Given the description of an element on the screen output the (x, y) to click on. 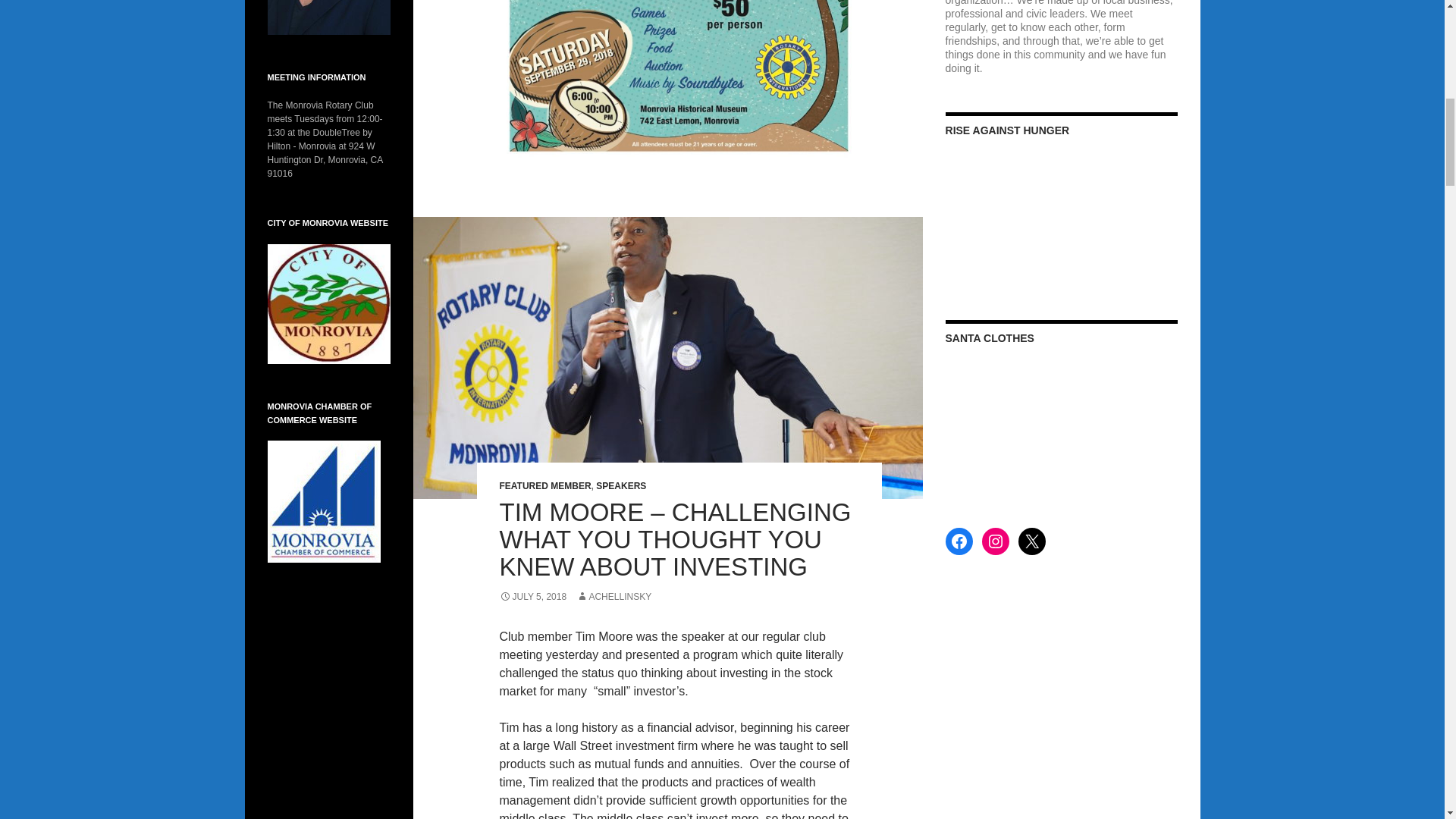
JULY 5, 2018 (532, 596)
Rise Against Hunger (1060, 218)
ACHELLINSKY (613, 596)
SPEAKERS (620, 485)
Santa Clothes (1060, 426)
FEATURED MEMBER (545, 485)
